Given the description of an element on the screen output the (x, y) to click on. 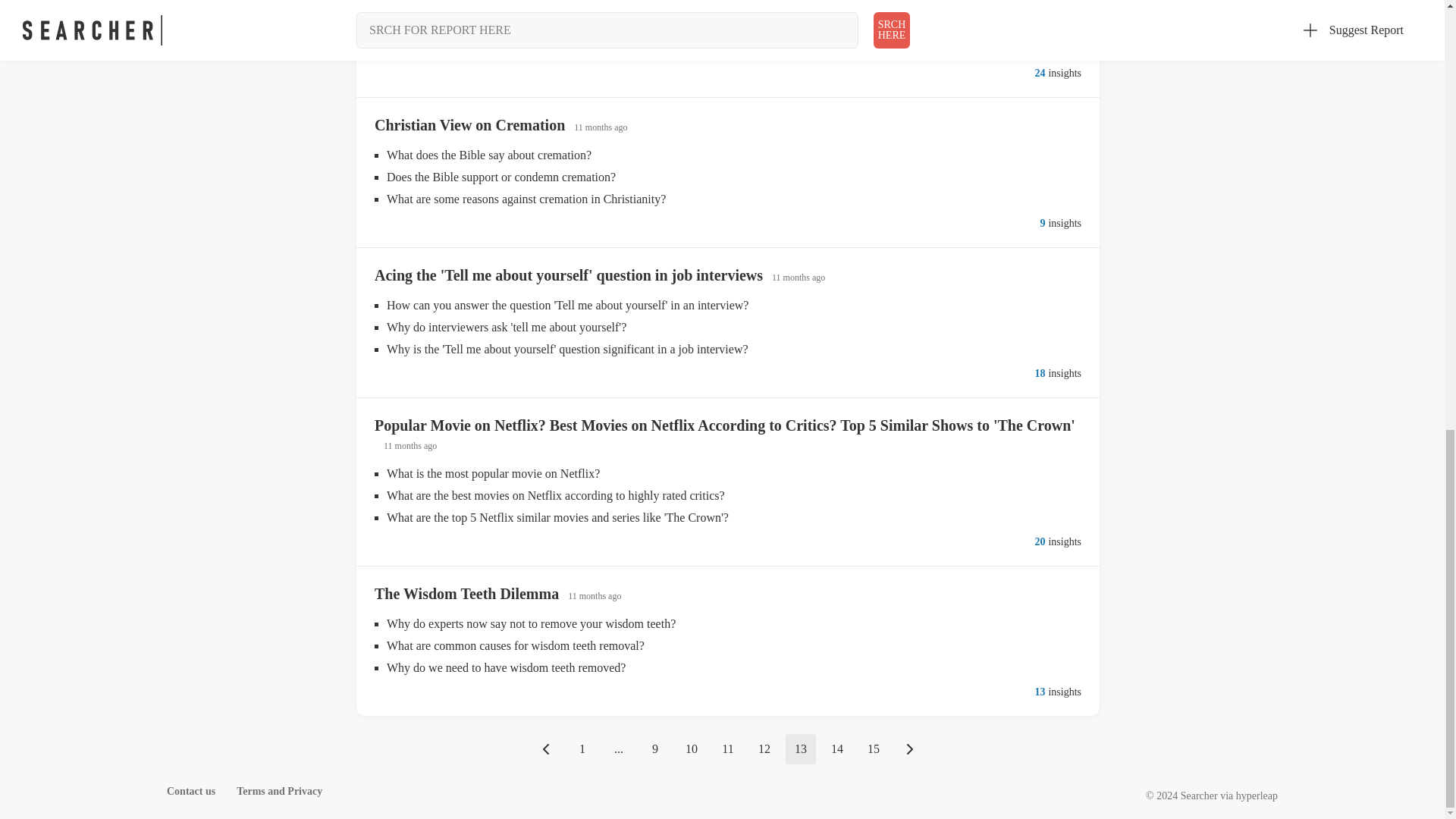
14 (836, 748)
9 (654, 748)
15 (873, 748)
1 (581, 748)
11 (727, 748)
12 (763, 748)
13 (800, 748)
Terms and Privacy (278, 790)
